Given the description of an element on the screen output the (x, y) to click on. 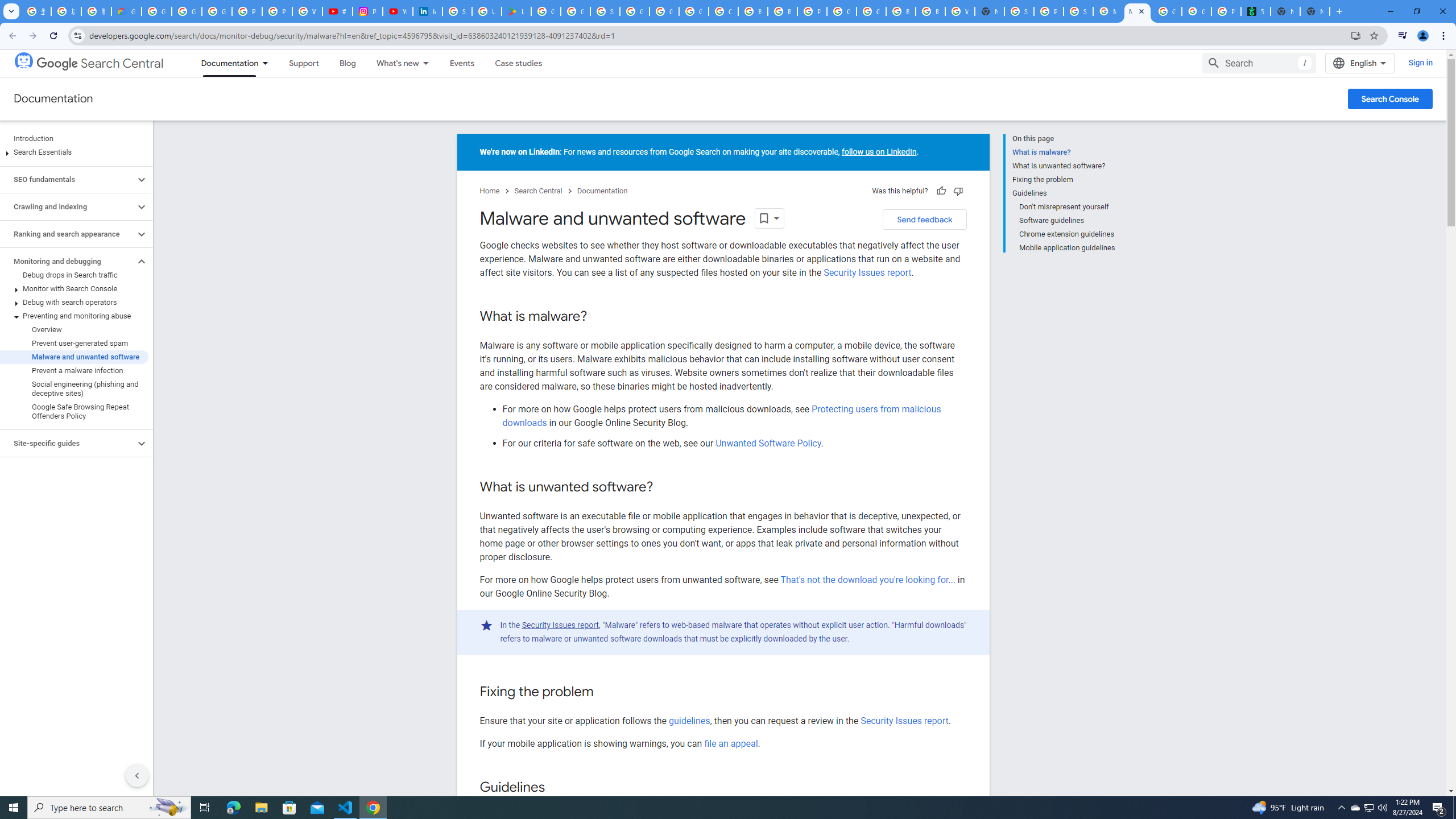
Prevent a malware infection (74, 370)
English (1359, 63)
Events (461, 62)
Hide side navigation (136, 775)
Search Essentials (74, 151)
Browse Chrome as a guest - Computer - Google Chrome Help (753, 11)
YouTube Culture & Trends - On The Rise: Handcam Videos (397, 11)
That's not the download you're looking for... (867, 579)
Security Issues report (904, 720)
